Given the description of an element on the screen output the (x, y) to click on. 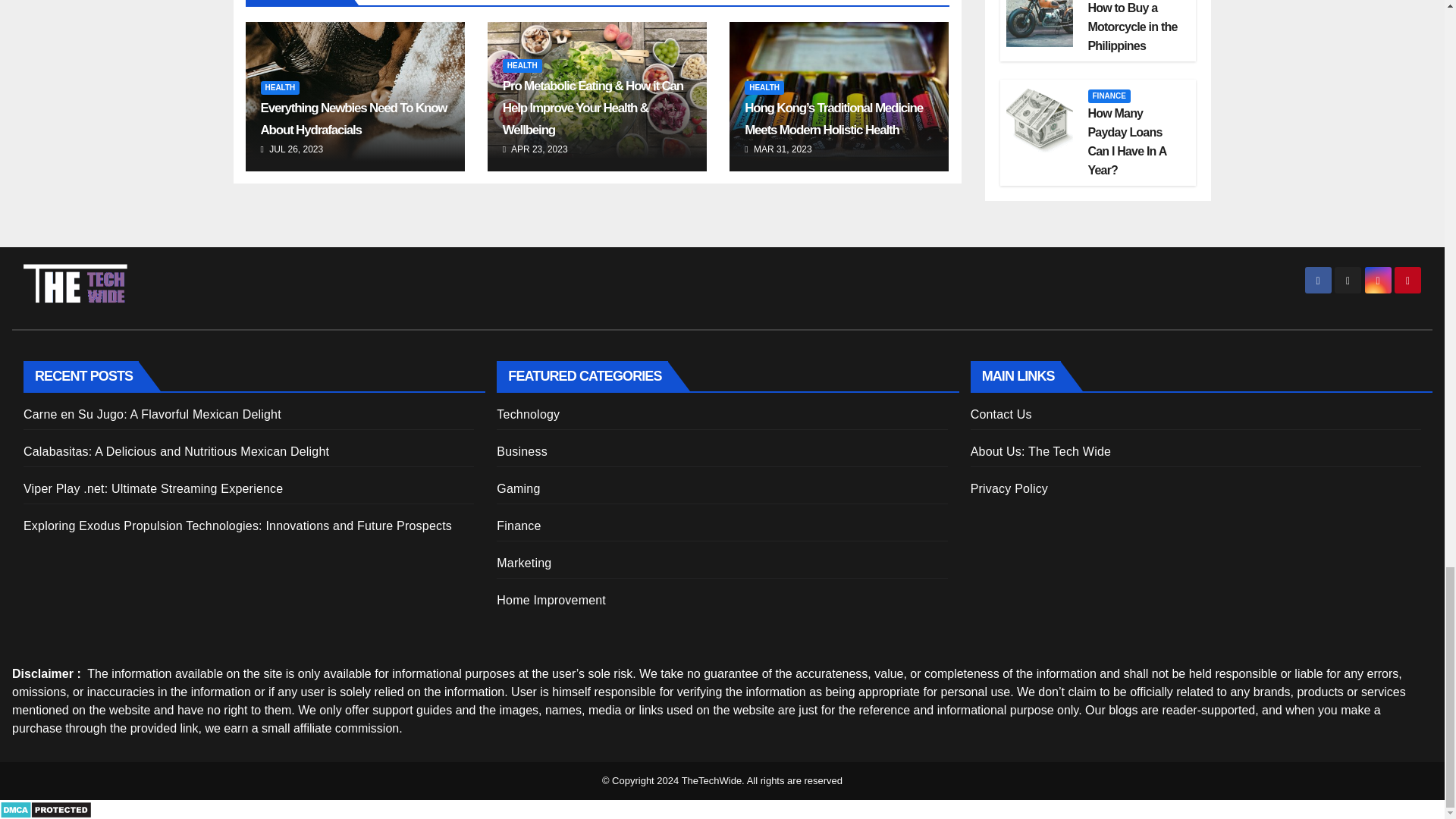
HEALTH (521, 65)
DMCA.com Protection Status (45, 808)
HEALTH (764, 88)
HEALTH (279, 88)
Everything Newbies Need To Know About Hydrafacials (353, 118)
